Given the description of an element on the screen output the (x, y) to click on. 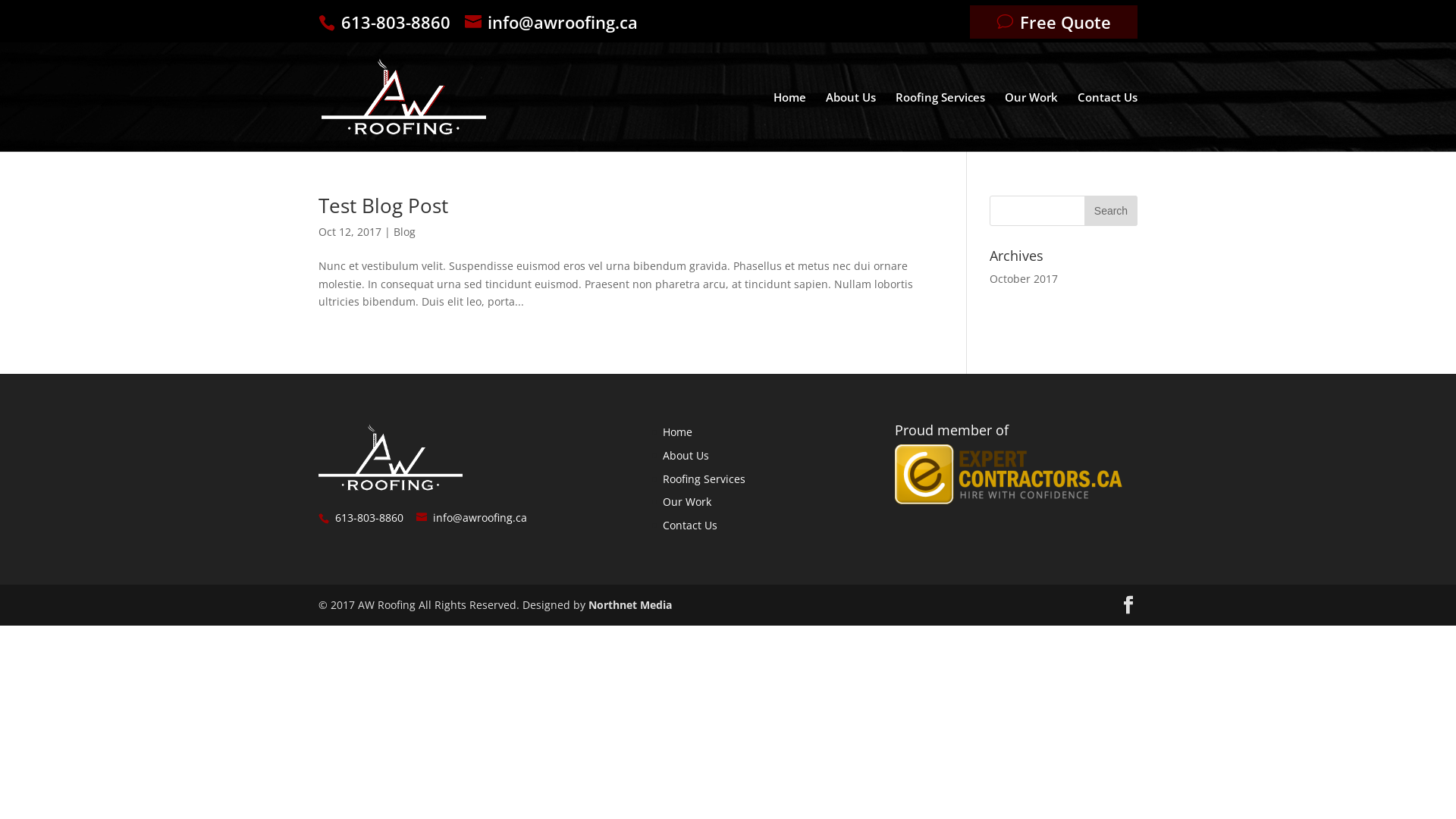
About Us Element type: text (850, 121)
Roofing Services Element type: text (703, 478)
Our Work Element type: text (1030, 121)
Contact Us Element type: text (1107, 121)
Contact Us Element type: text (689, 524)
Home Element type: text (789, 121)
Northnet Media Element type: text (629, 604)
info@awroofing.ca Element type: text (476, 517)
Roofing Services Element type: text (940, 121)
info@awroofing.ca Element type: text (555, 21)
Blog Element type: text (404, 231)
Our Work Element type: text (686, 501)
October 2017 Element type: text (1023, 278)
Home Element type: text (677, 431)
Search Element type: text (1110, 210)
About Us Element type: text (685, 455)
Free Quote Element type: text (1053, 20)
Test Blog Post Element type: text (383, 205)
